Given the description of an element on the screen output the (x, y) to click on. 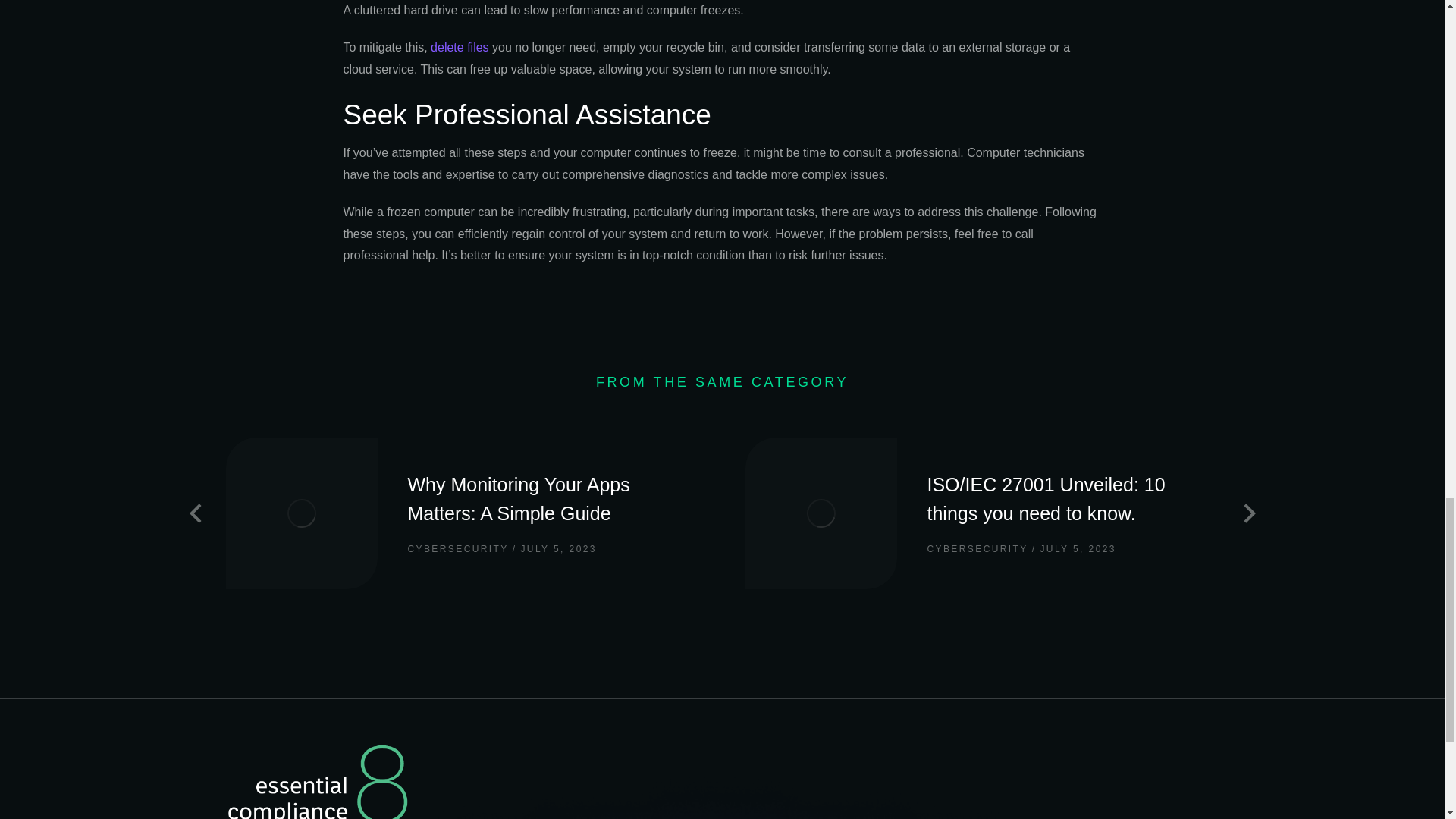
JULY 5, 2023 (554, 549)
Why Monitoring Your Apps Matters: A Simple Guide (553, 498)
delete files (459, 47)
CYBERSECURITY (976, 549)
Why Monitoring Your Apps Matters: A Simple Guide (553, 498)
JULY 5, 2023 (1074, 549)
10:57 am (1074, 549)
CYBERSECURITY (457, 549)
1:21 pm (554, 549)
